Given the description of an element on the screen output the (x, y) to click on. 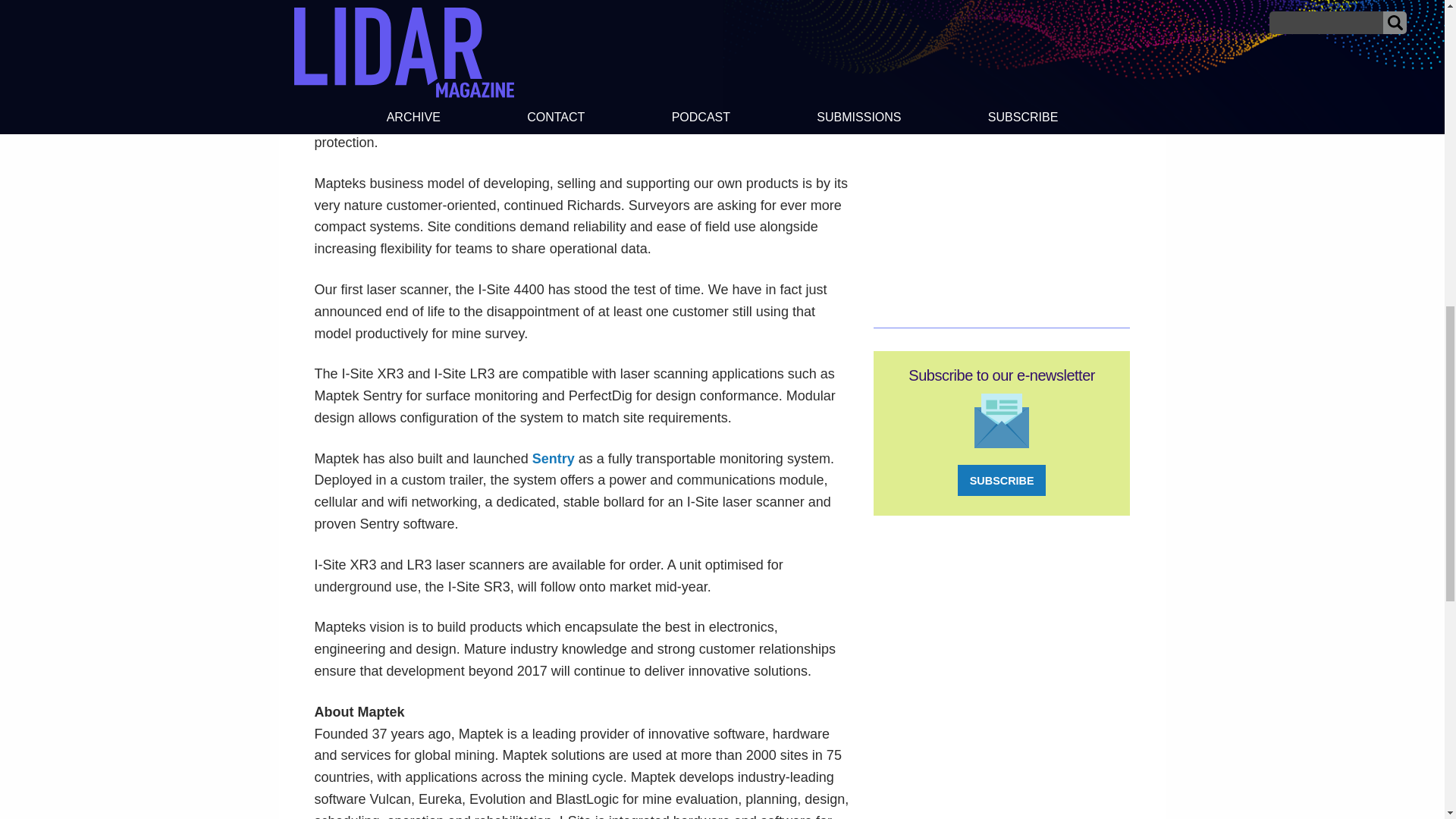
Sentry (553, 458)
SUBSCRIBE (1001, 480)
3rd party ad content (1001, 152)
